Given the description of an element on the screen output the (x, y) to click on. 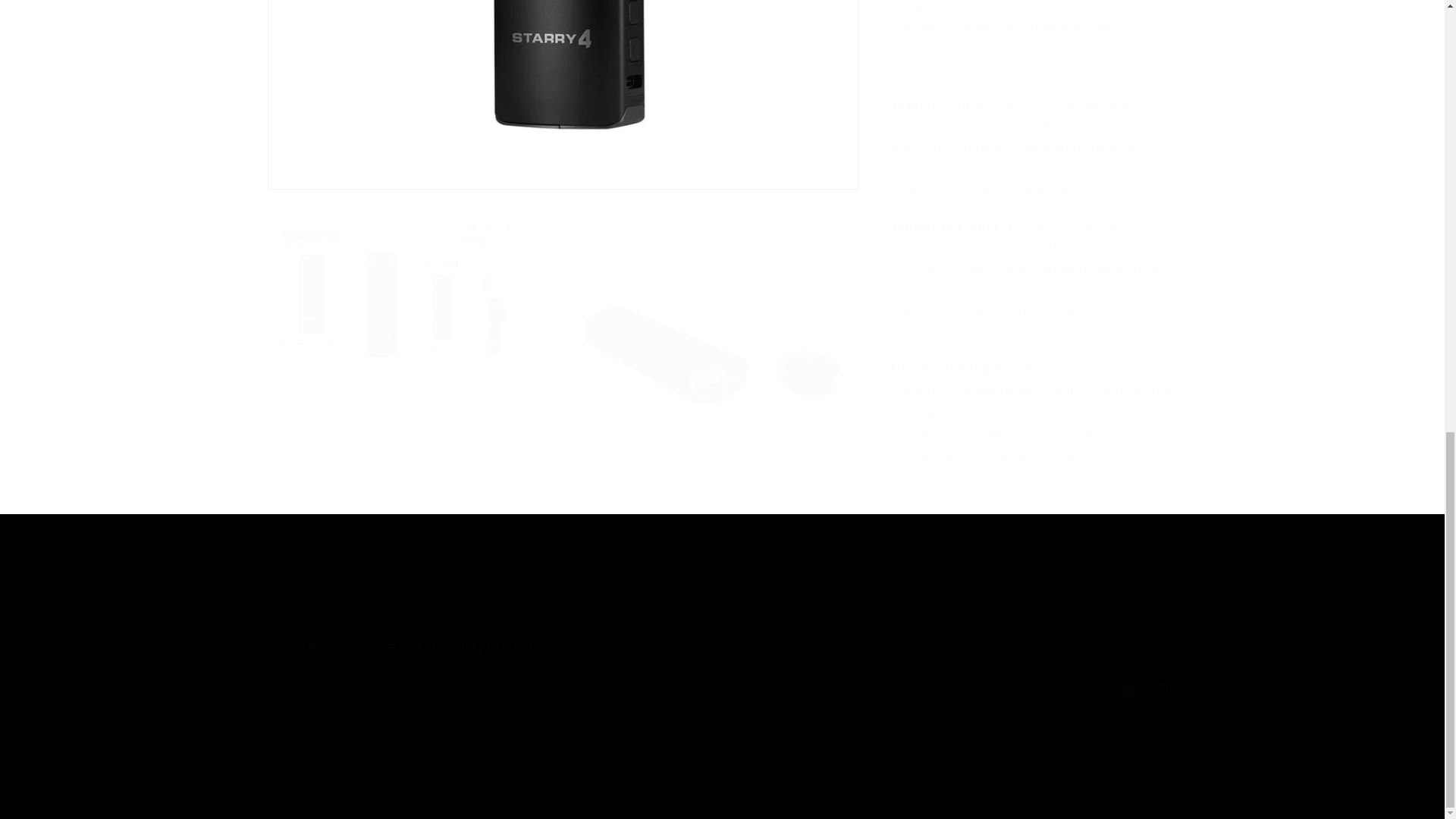
Open media 3 in modal (721, 601)
Open media 2 in modal (711, 58)
